Given the description of an element on the screen output the (x, y) to click on. 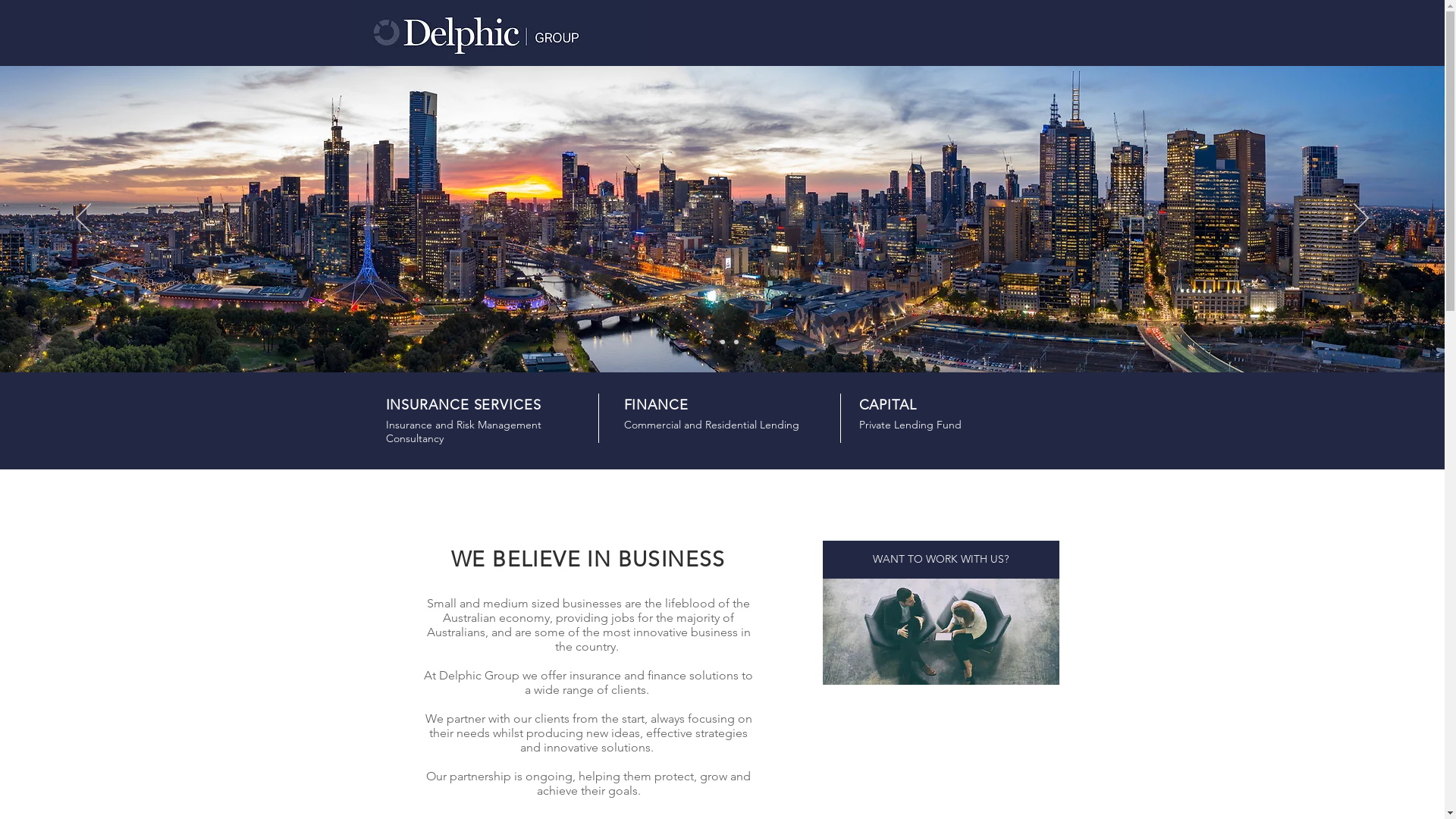
FINANCE Element type: text (655, 404)
WANT TO WORK WITH US? Element type: text (940, 559)
CAPITAL Element type: text (887, 404)
EDT-mustang-garage-mirror-black-car-9086 copy.jpg Element type: hover (940, 631)
INSURANCE SERVICES Element type: text (462, 404)
